Given the description of an element on the screen output the (x, y) to click on. 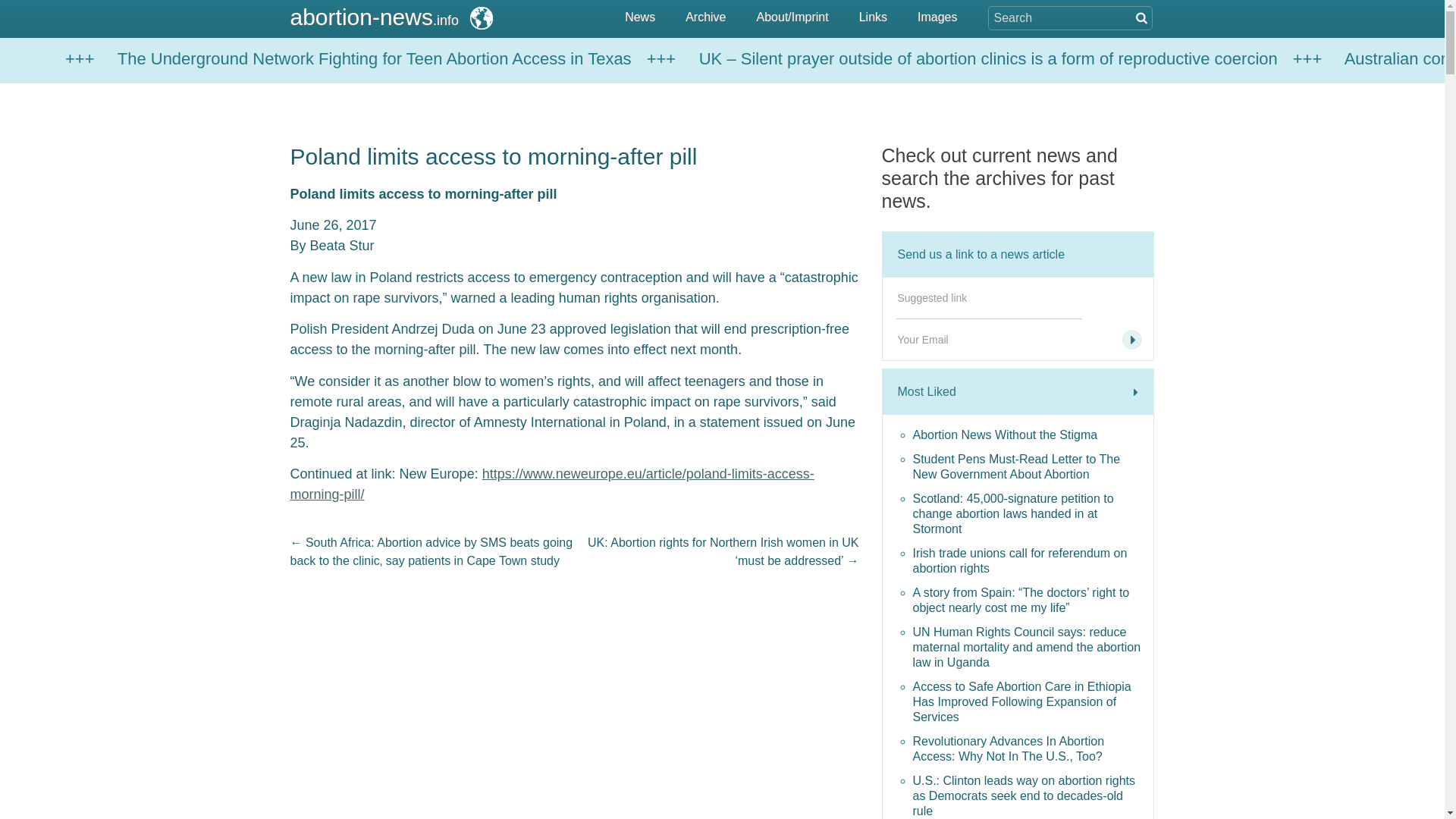
irish-trade-unions-call-for-referendum-on-abortion-rights (1029, 561)
Advanced Search (1139, 17)
Images (937, 18)
News (639, 18)
Search (77, 9)
Abortion News Without the Stigma (1029, 435)
